Given the description of an element on the screen output the (x, y) to click on. 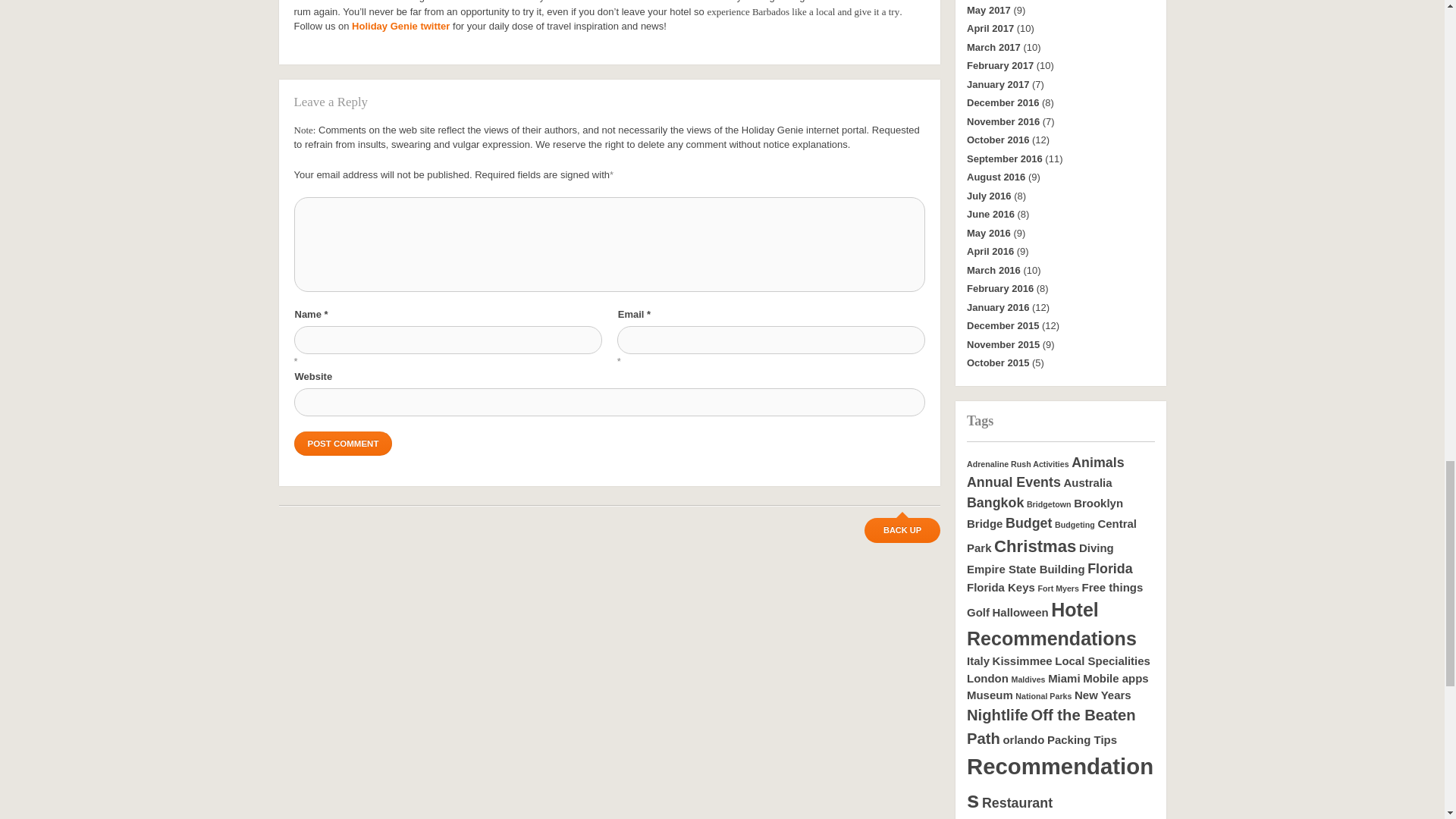
3 topics (1013, 482)
3 topics (1097, 462)
Post Comment (343, 443)
3 topics (1028, 522)
3 topics (994, 502)
Holiday Genie twitter (400, 25)
1 topic (1074, 524)
2 topics (1087, 481)
Post Comment (343, 443)
BACK UP (902, 529)
1 topic (1048, 503)
2 topics (1051, 535)
1 topic (1017, 463)
BACK UP (902, 529)
5 topics (1034, 546)
